Given the description of an element on the screen output the (x, y) to click on. 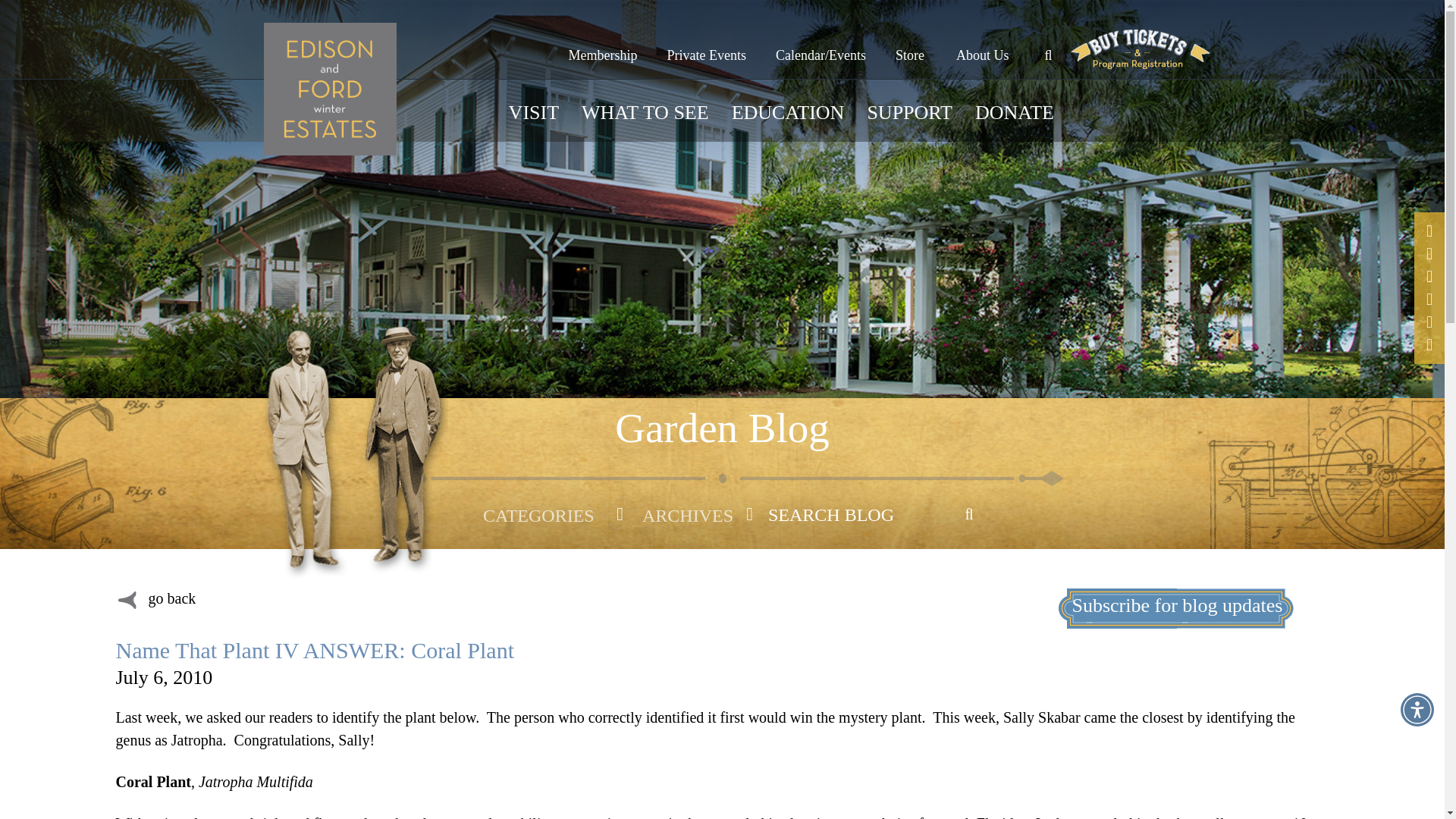
Private Events (705, 40)
VISIT (533, 124)
About Us (982, 40)
Store (909, 40)
WHAT TO SEE (644, 124)
Membership (603, 40)
EDUCATION (788, 124)
SUPPORT (909, 124)
Accessibility Menu (1417, 709)
